Given the description of an element on the screen output the (x, y) to click on. 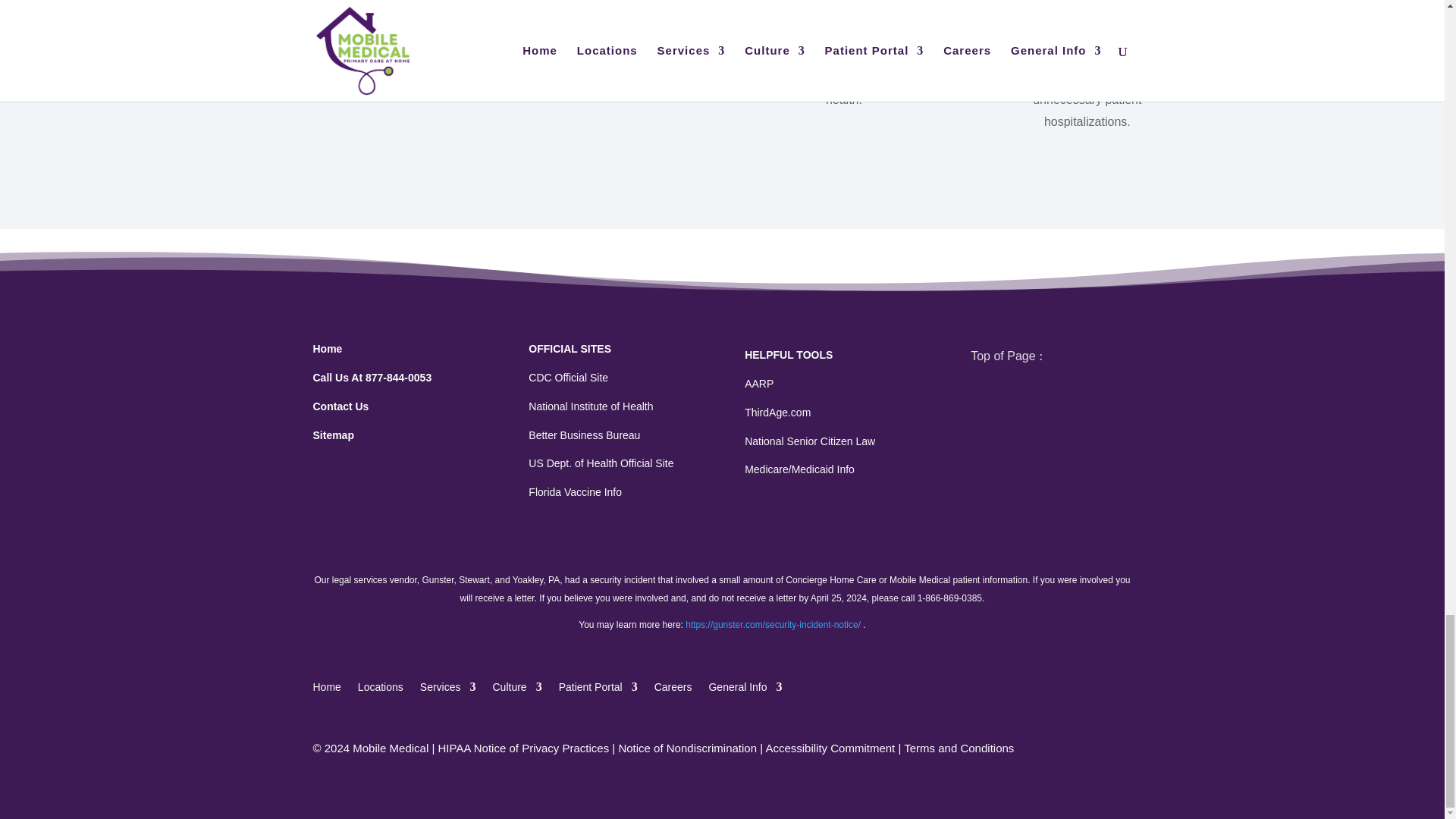
Contact Us (340, 406)
Florida Vaccine Info (574, 491)
US Dept. of Health Official Site (600, 463)
National Institute of Health (590, 406)
Better Business Bureau (584, 435)
CDC Official Site (568, 377)
Call Us (371, 377)
AARP (758, 383)
Home (327, 348)
Sitemap (333, 435)
